Given the description of an element on the screen output the (x, y) to click on. 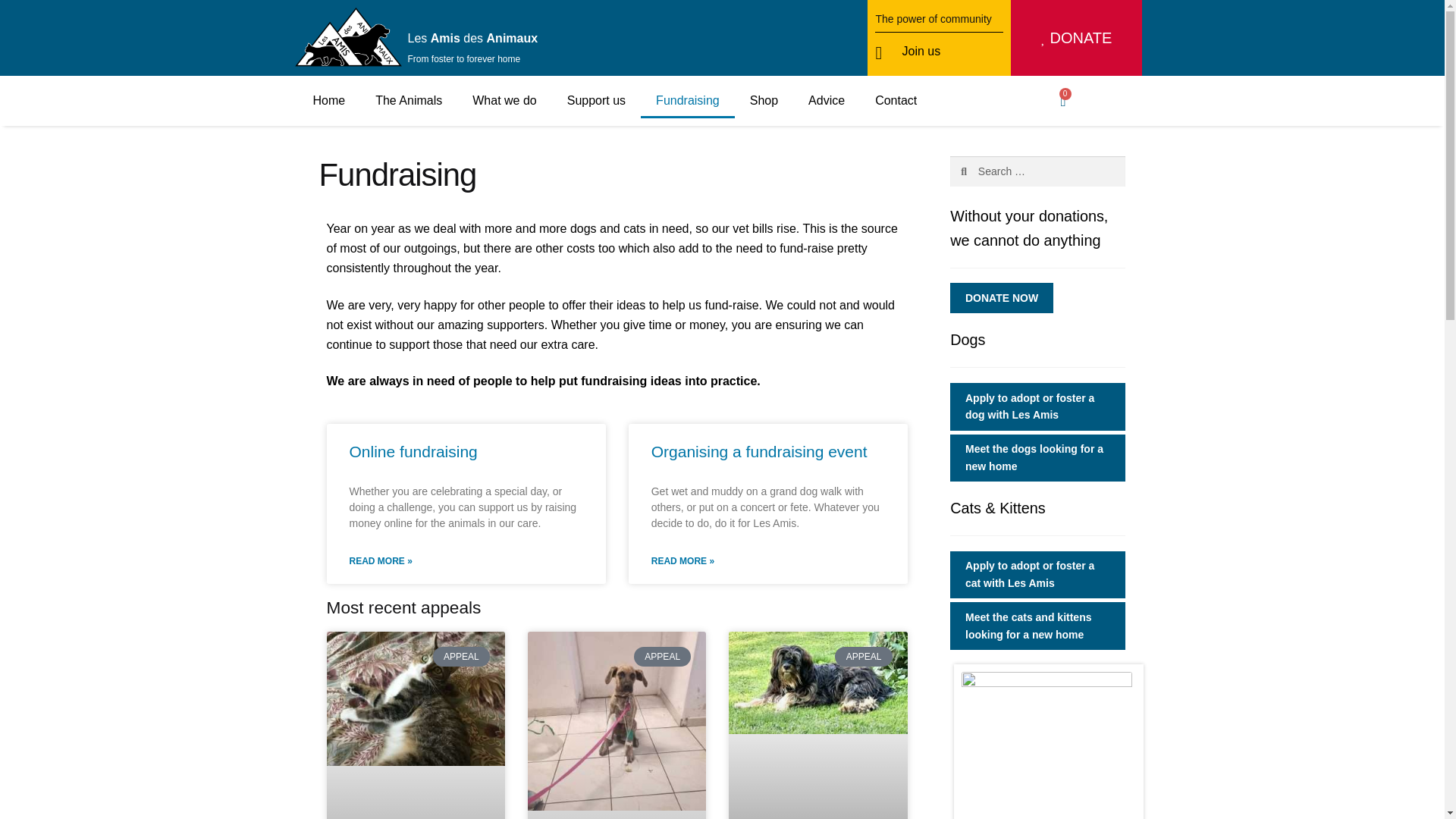
Home (328, 100)
PASTO NEW 3 (1046, 745)
Fundraising (687, 100)
Shop (764, 100)
DONATE (1076, 38)
Support us (595, 100)
The Animals (408, 100)
Contact (895, 100)
Advice (826, 100)
What we do (504, 100)
